Given the description of an element on the screen output the (x, y) to click on. 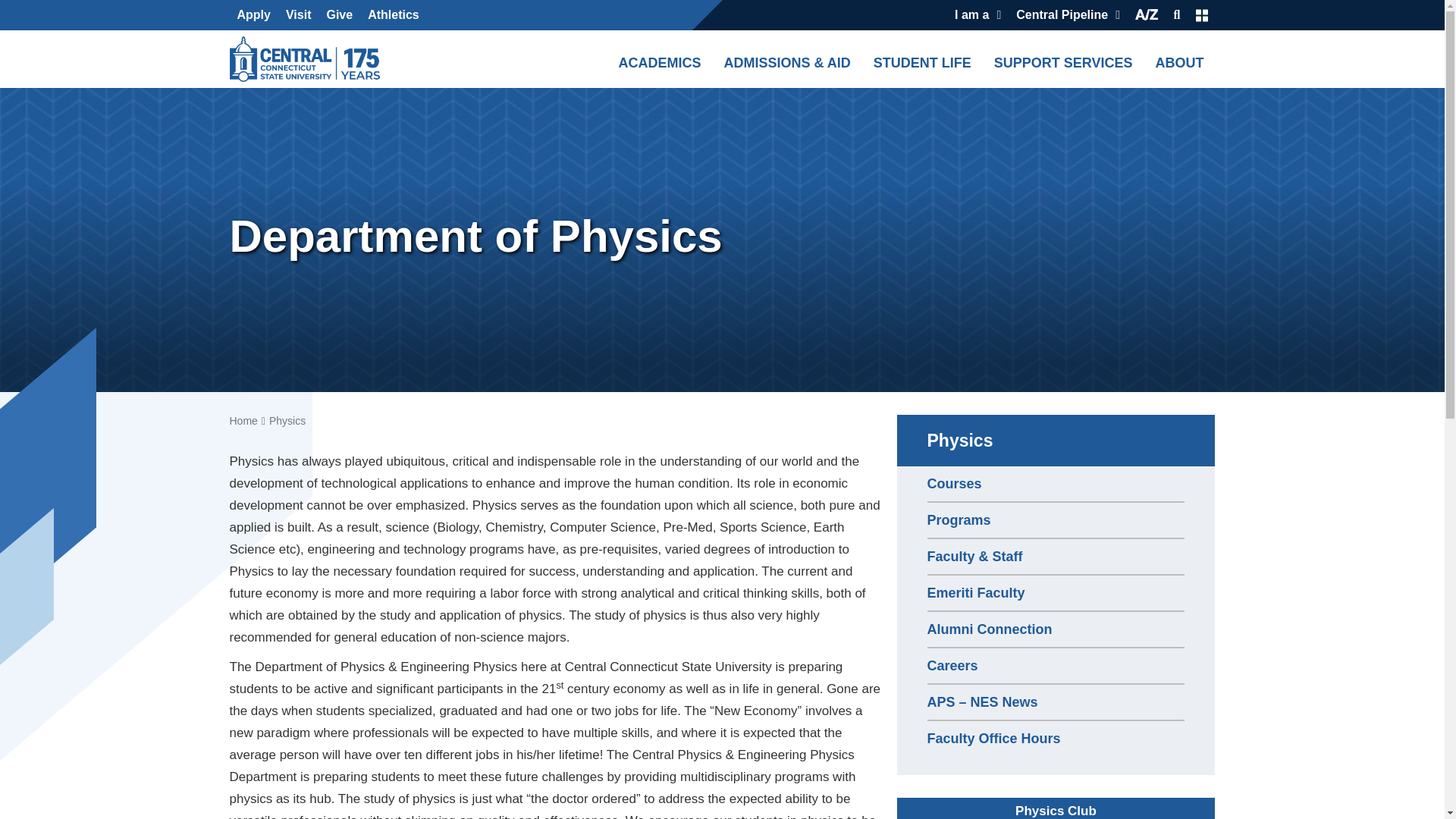
I am a (978, 15)
Home (307, 58)
Give (338, 15)
Athletics (392, 15)
Central Pipeline (1067, 15)
Quick Links (1201, 15)
Apply (253, 15)
Visit (298, 15)
ACADEMICS (658, 58)
